Given the description of an element on the screen output the (x, y) to click on. 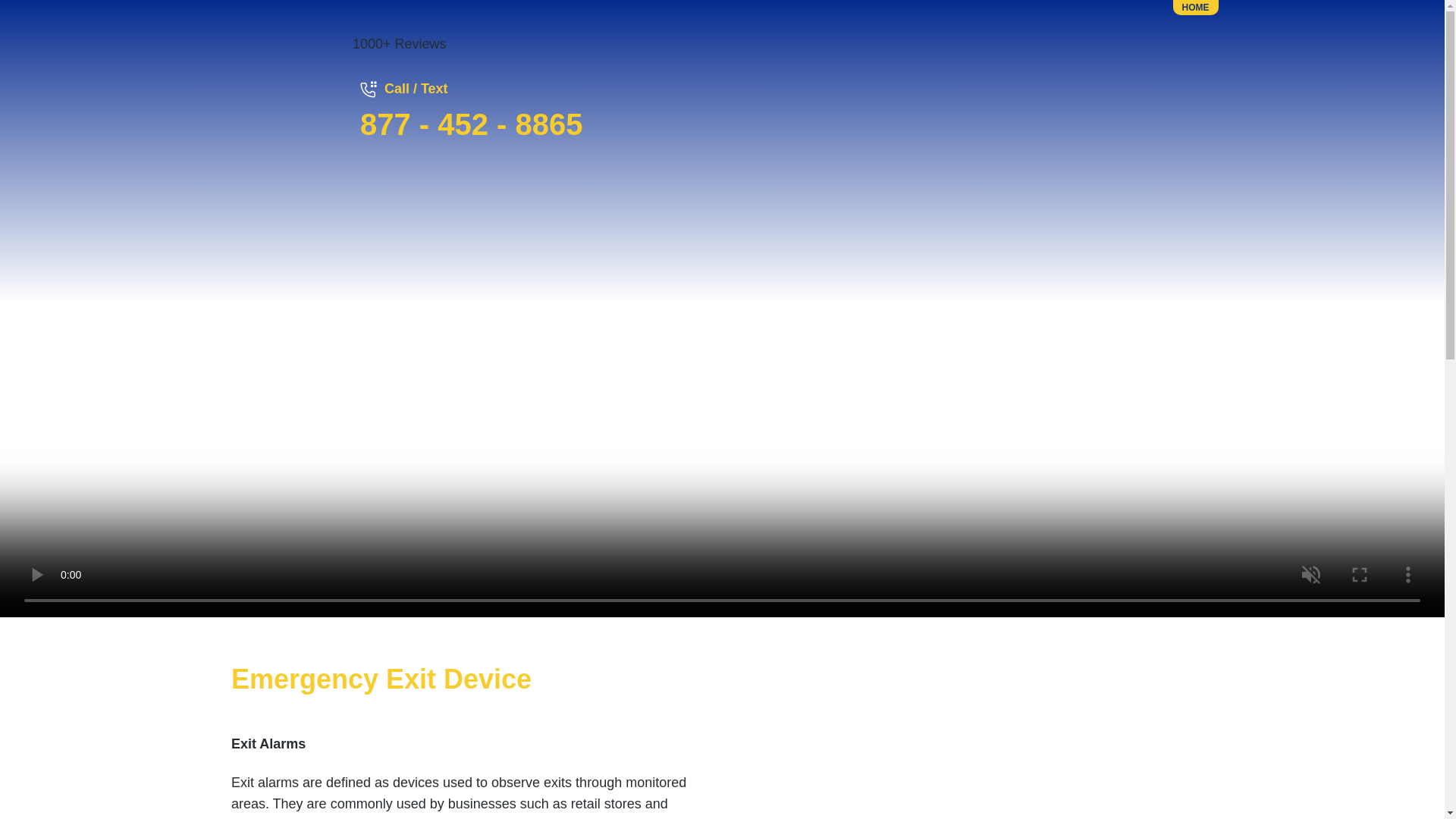
Guardian Angel Locksmith logo (721, 299)
Commercial Services  (511, 233)
Access Control (1094, 233)
Call (471, 123)
Access Control (1094, 233)
google review (550, 45)
Safes (657, 233)
Automotive (802, 233)
Residential Services (366, 233)
